Given the description of an element on the screen output the (x, y) to click on. 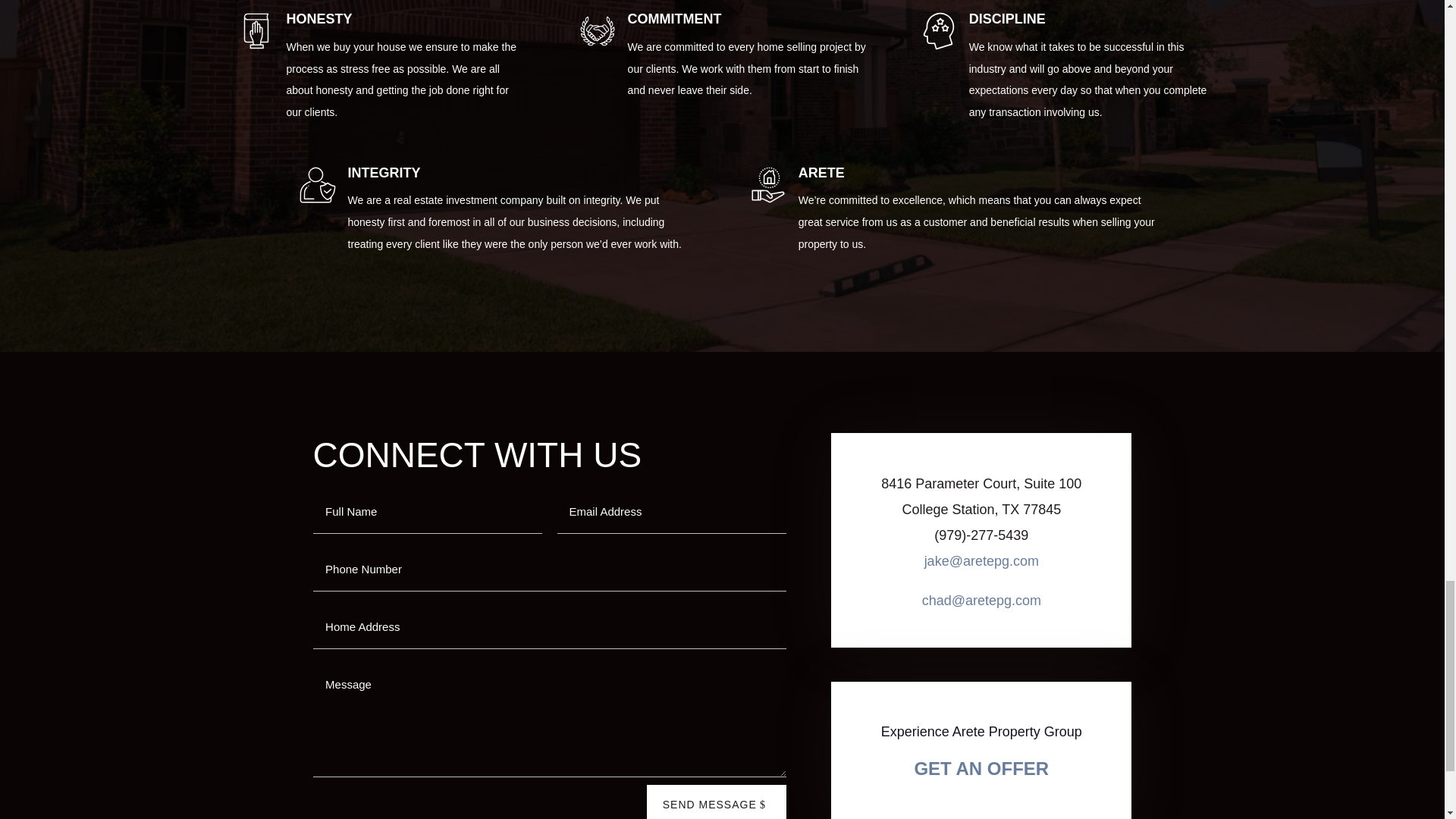
SEND MESSAGE (716, 801)
Page 1 (981, 496)
GET AN OFFER (981, 768)
Page 1 (981, 534)
